Given the description of an element on the screen output the (x, y) to click on. 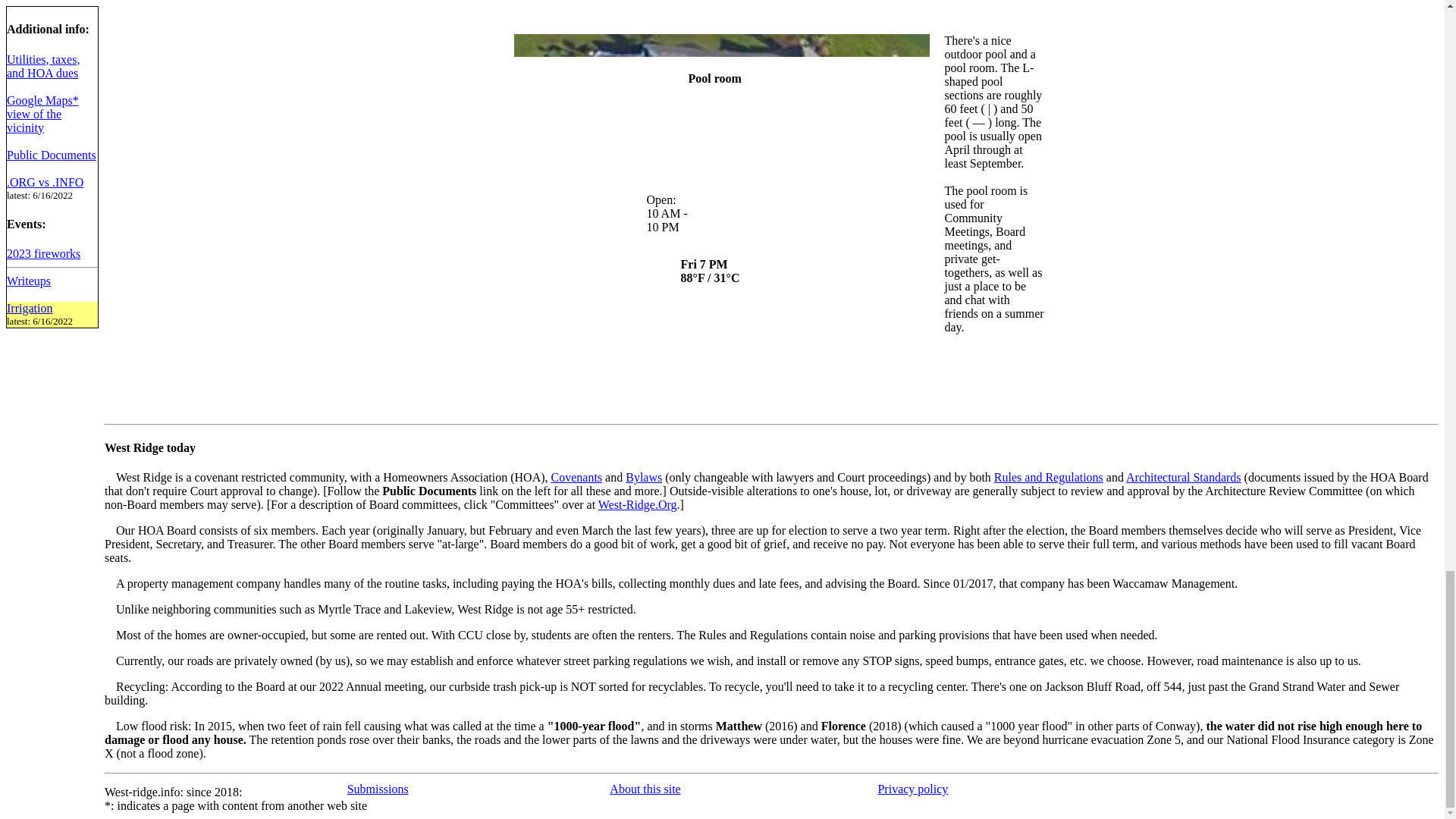
About this site (644, 788)
Privacy policy (912, 788)
Architectural Standards (1183, 477)
Bylaws (644, 477)
Submissions (378, 788)
Covenants (576, 477)
Rules and Regulations (1048, 477)
West-Ridge.Org (637, 504)
